Given the description of an element on the screen output the (x, y) to click on. 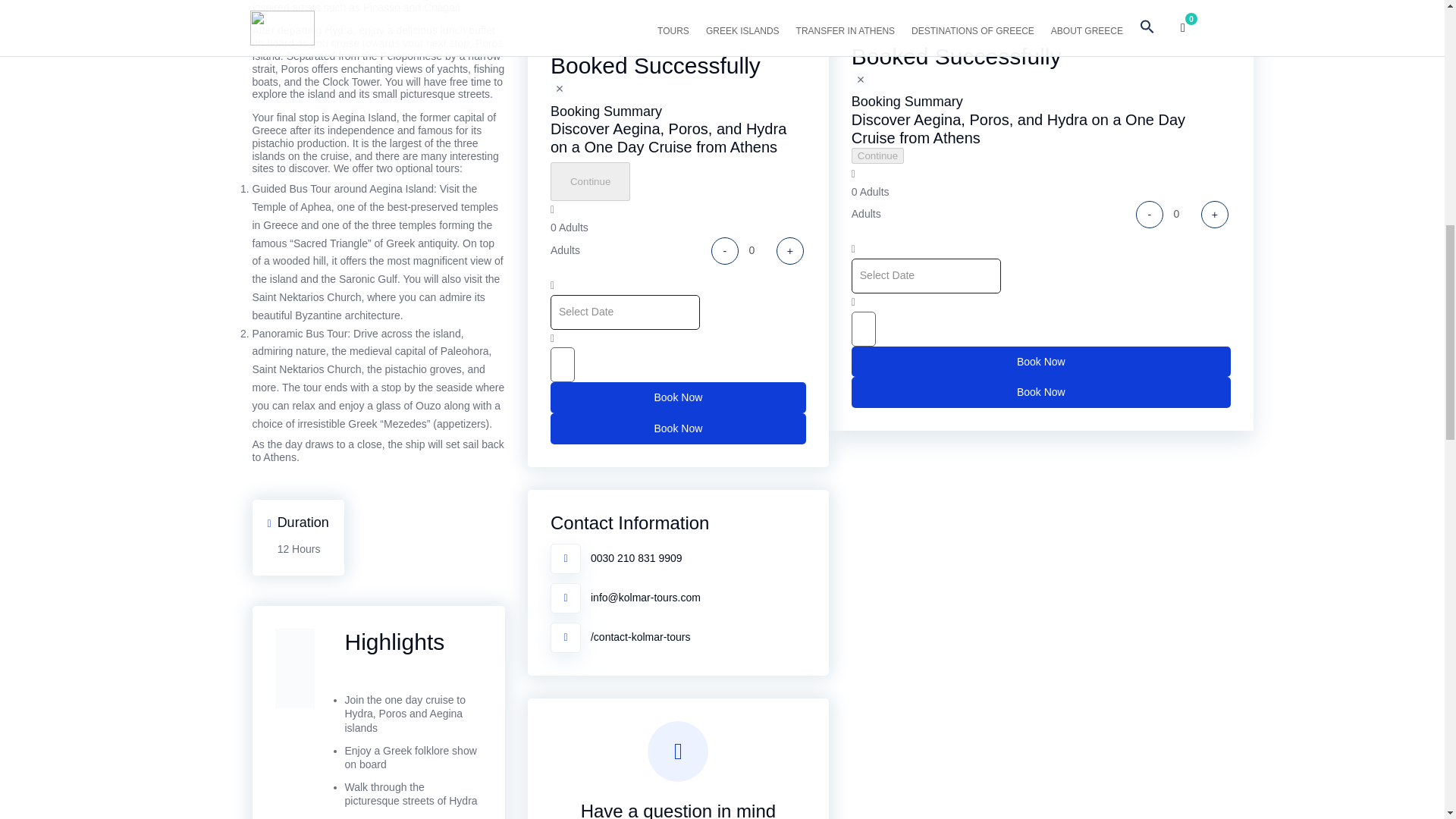
0 (757, 250)
0 (1182, 214)
